Given the description of an element on the screen output the (x, y) to click on. 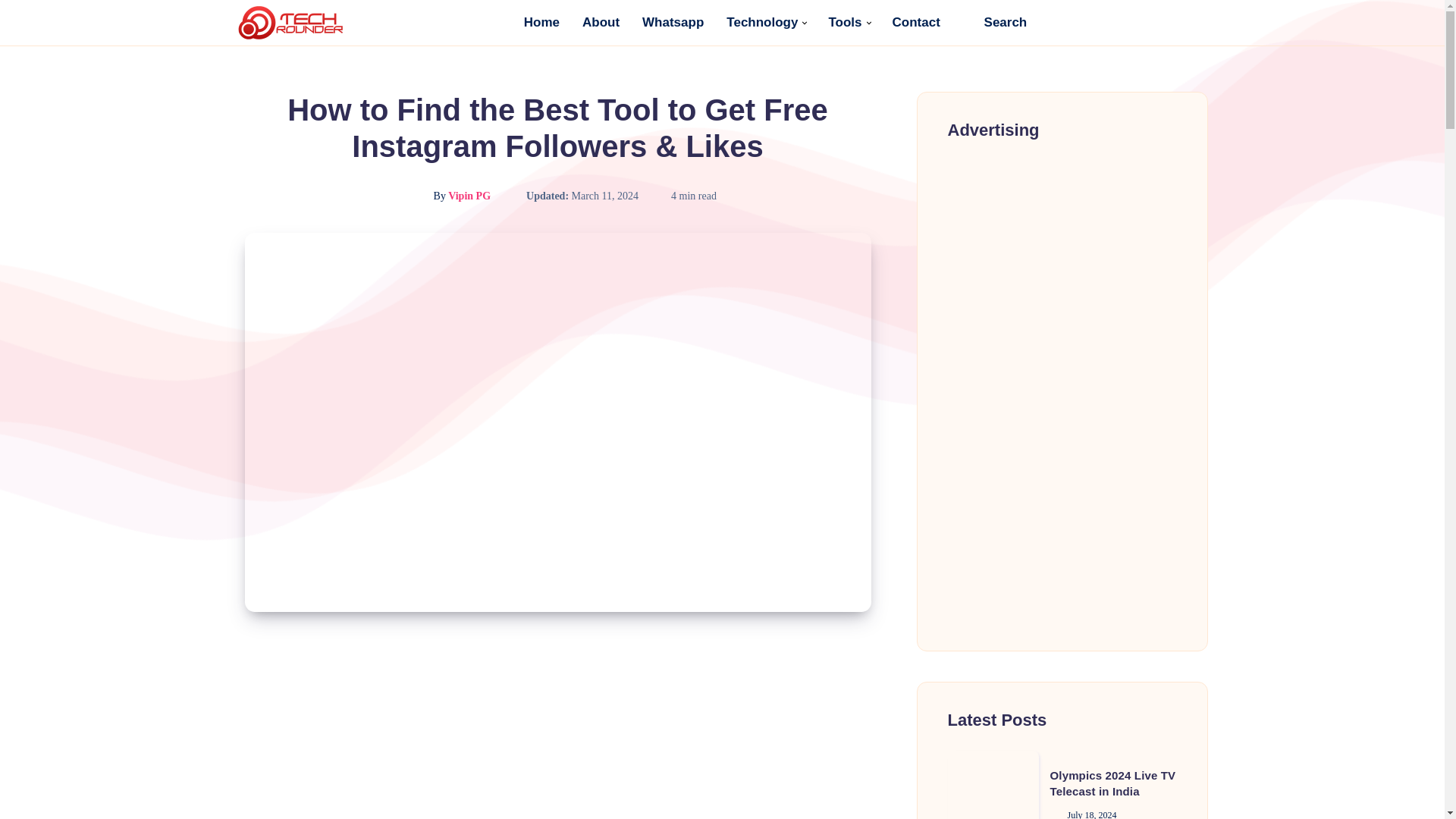
Tools (844, 22)
Home (541, 22)
Search (994, 22)
Whatsapp (672, 22)
Contact (916, 22)
About (601, 22)
Technology (761, 22)
